Given the description of an element on the screen output the (x, y) to click on. 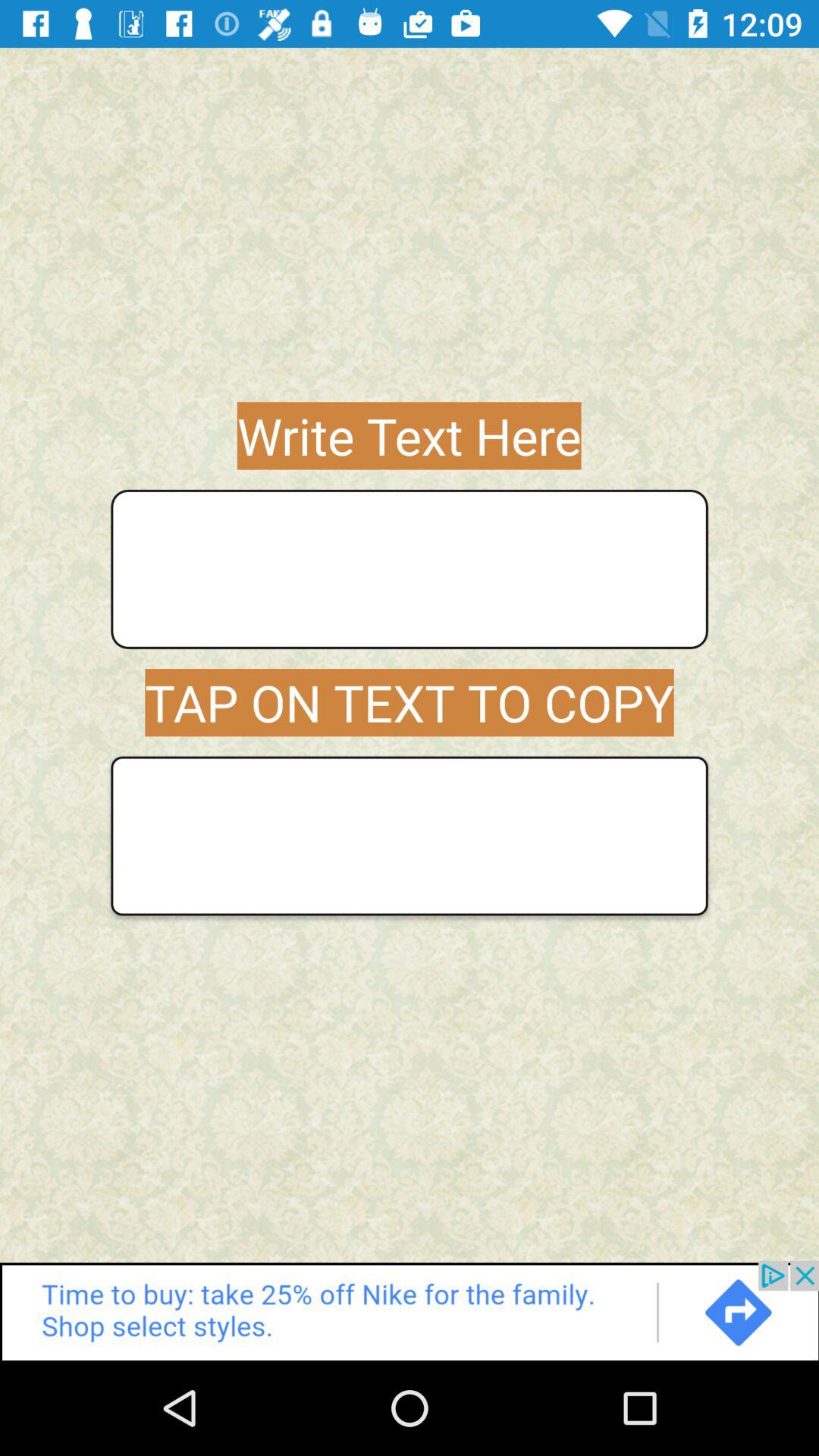
write your text here (409, 568)
